Given the description of an element on the screen output the (x, y) to click on. 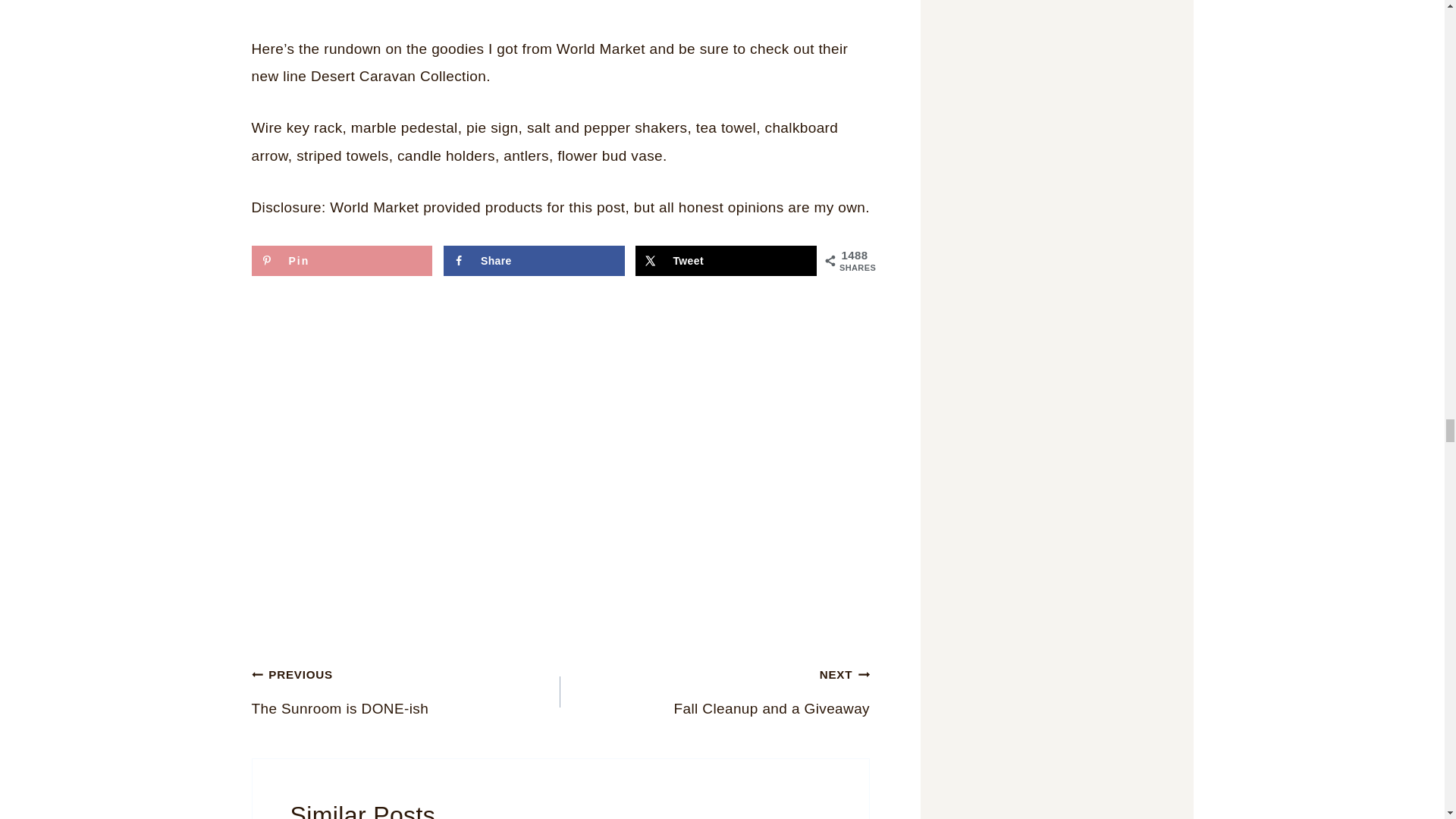
Tweet (725, 260)
Share on X (725, 260)
Save to Pinterest (714, 691)
Share (341, 260)
Share on Facebook (534, 260)
Pin (534, 260)
